Given the description of an element on the screen output the (x, y) to click on. 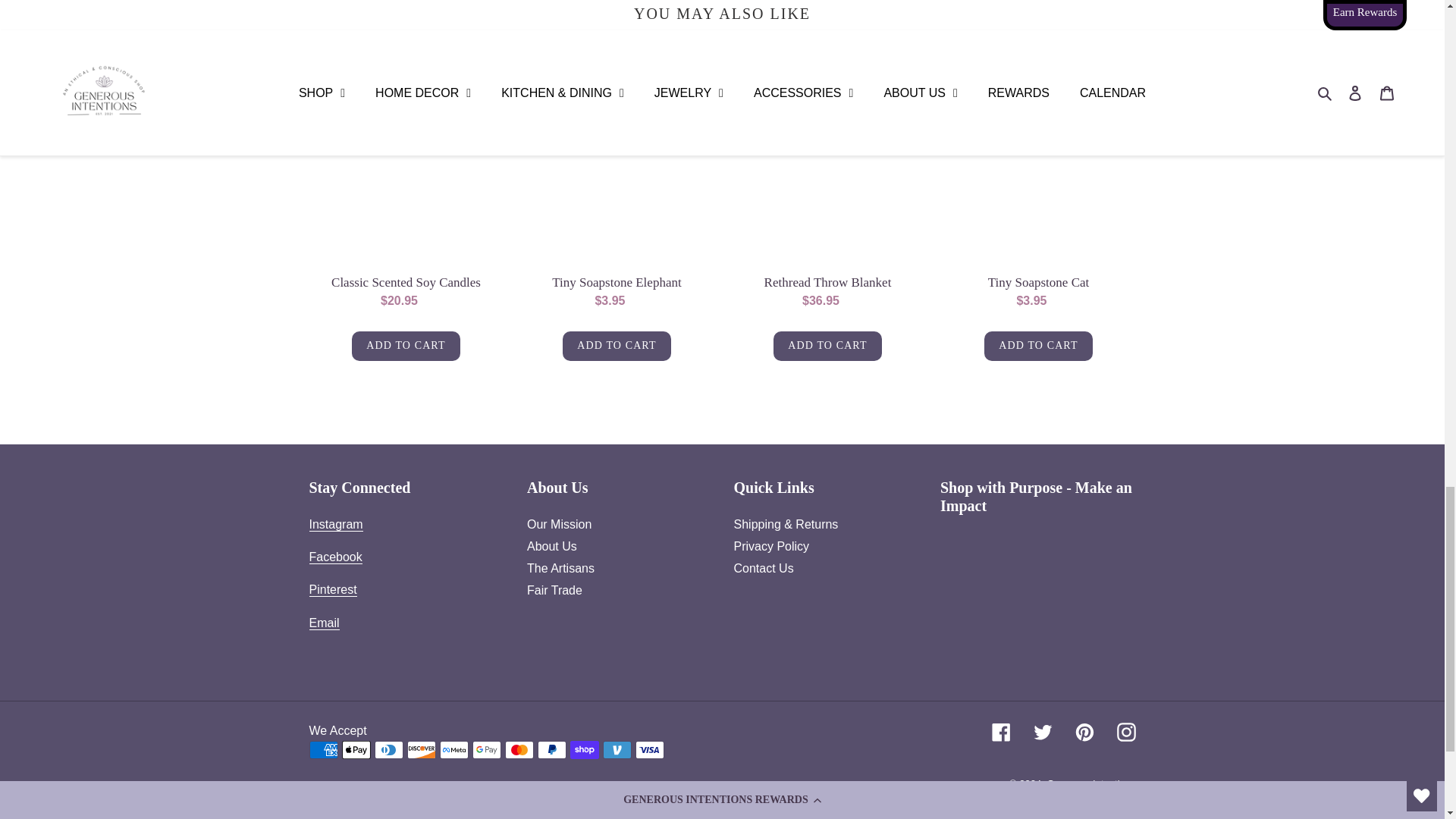
Add to cart (615, 346)
Add to cart (406, 346)
Add to cart (1038, 346)
Add to cart (826, 346)
